Given the description of an element on the screen output the (x, y) to click on. 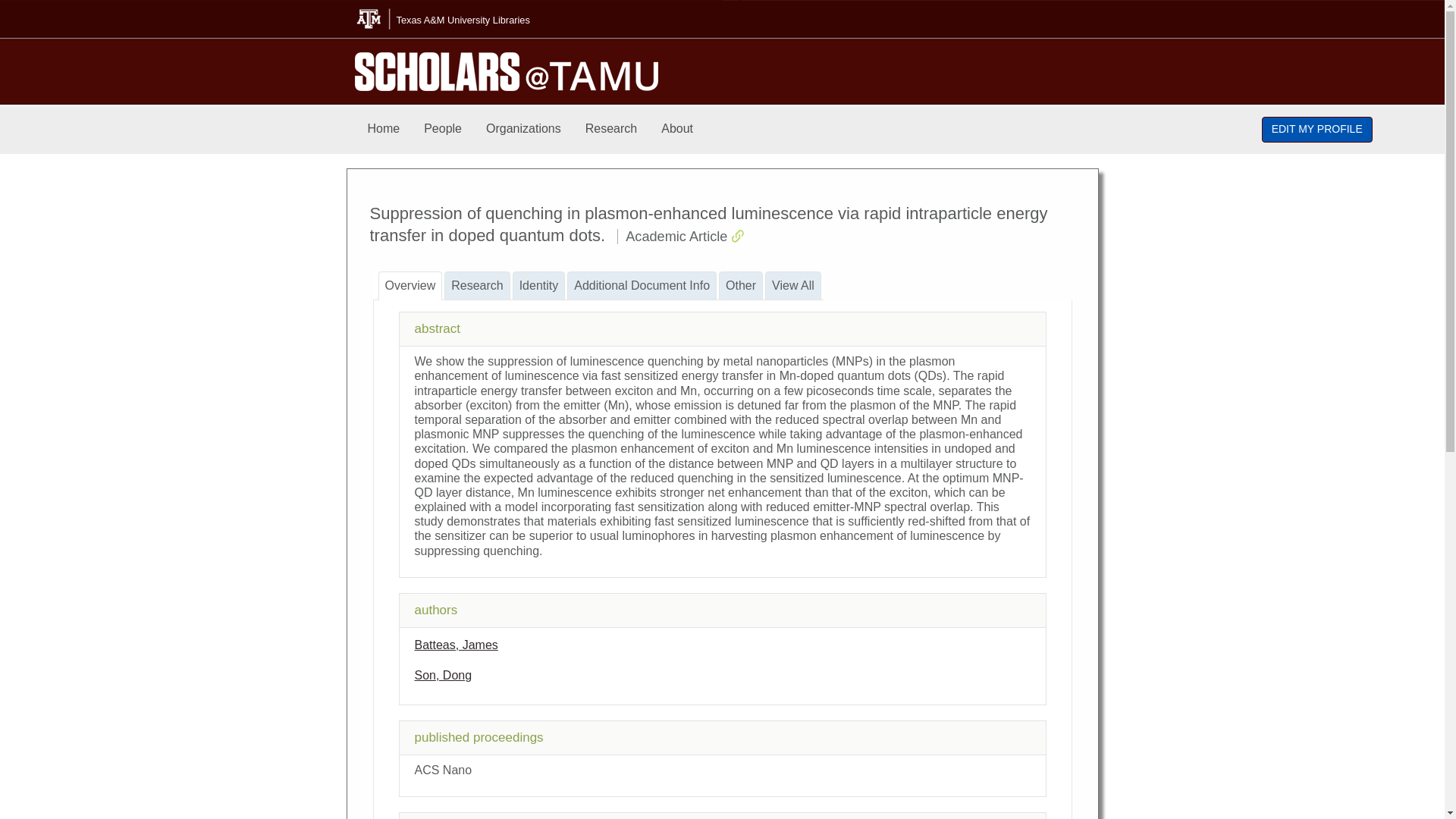
Organizations (523, 128)
Batteas, James (455, 644)
People menu item (443, 128)
Organizations menu item (523, 128)
Home menu item (383, 128)
Home (383, 128)
EDIT MY PROFILE (1317, 129)
About menu item (676, 128)
Son, Dong (442, 675)
author name (442, 675)
Research menu item (611, 128)
People (443, 128)
author name (455, 644)
Research (611, 128)
About (676, 128)
